Given the description of an element on the screen output the (x, y) to click on. 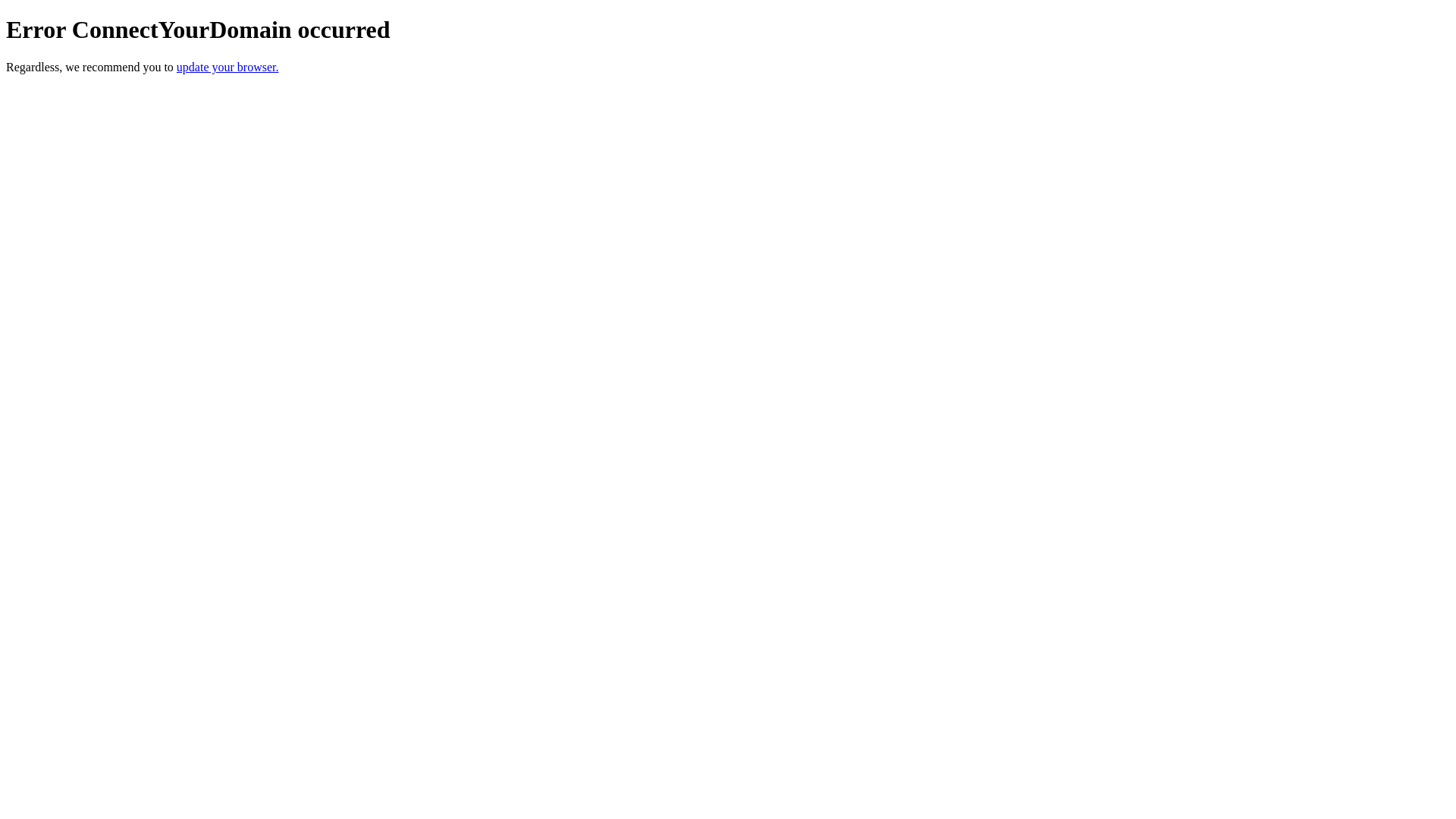
update your browser. Element type: text (227, 66)
